Given the description of an element on the screen output the (x, y) to click on. 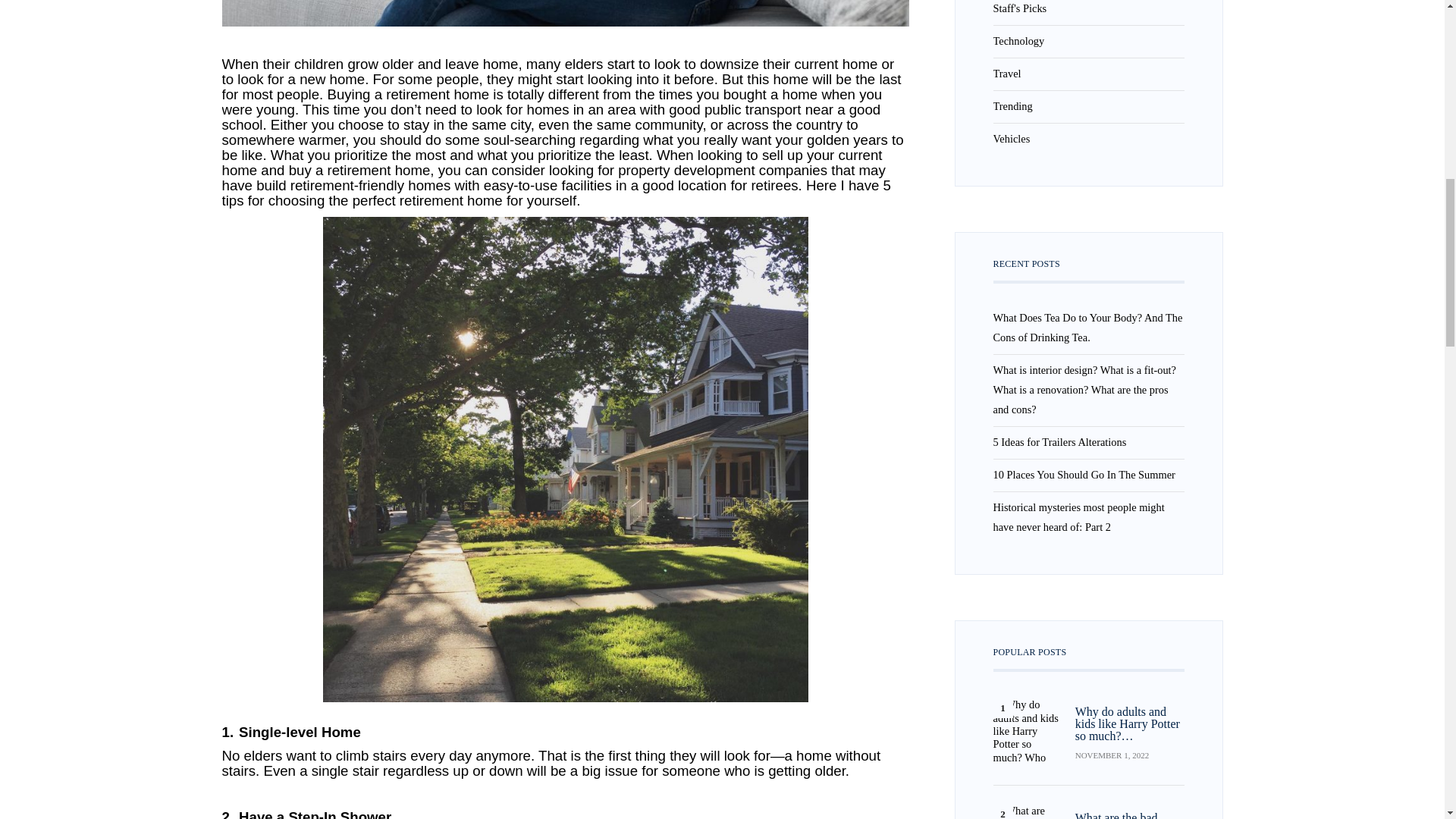
Here goes some nice category description. Good for SEO. (1019, 8)
